Given the description of an element on the screen output the (x, y) to click on. 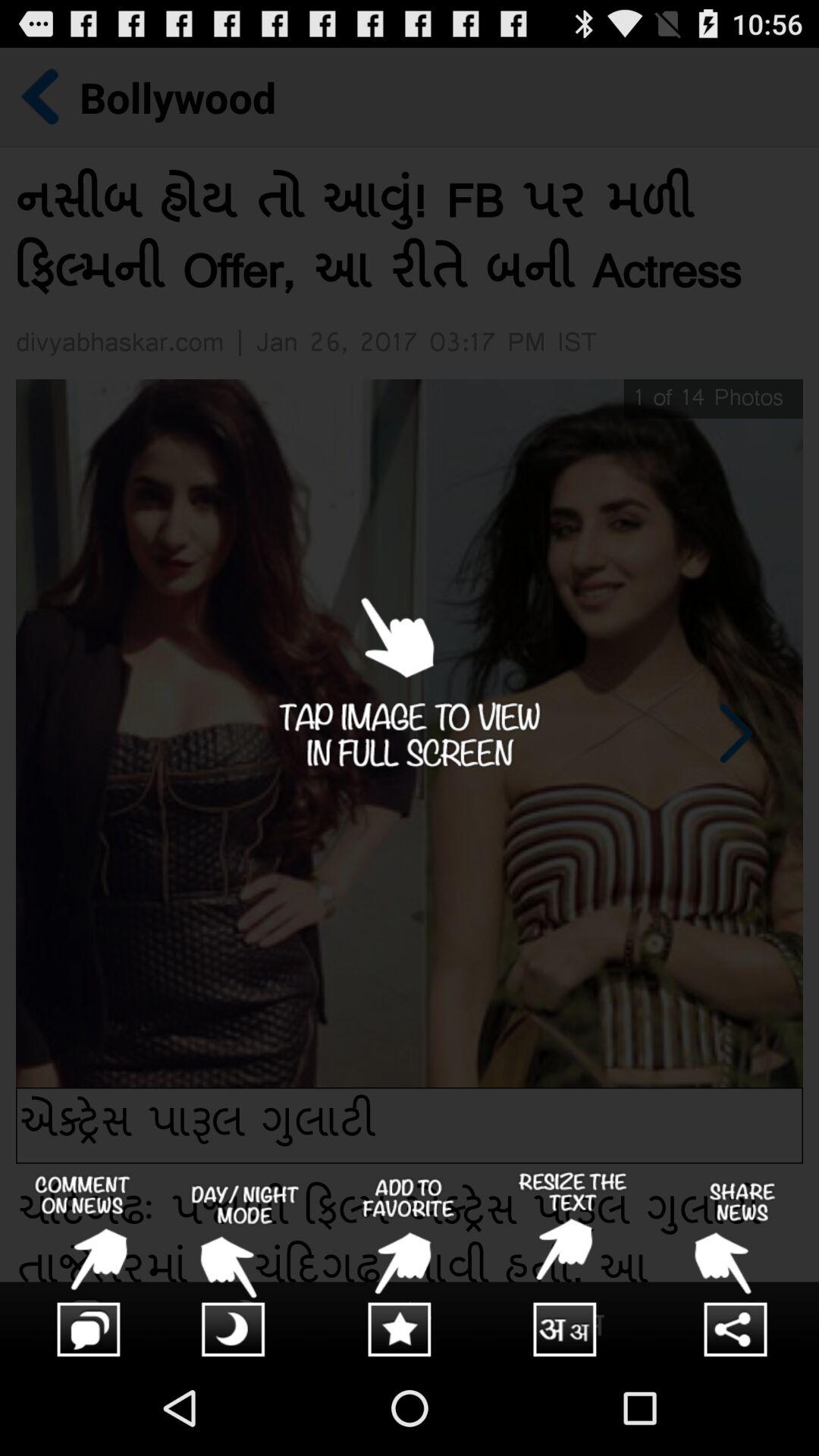
message (81, 1265)
